Given the description of an element on the screen output the (x, y) to click on. 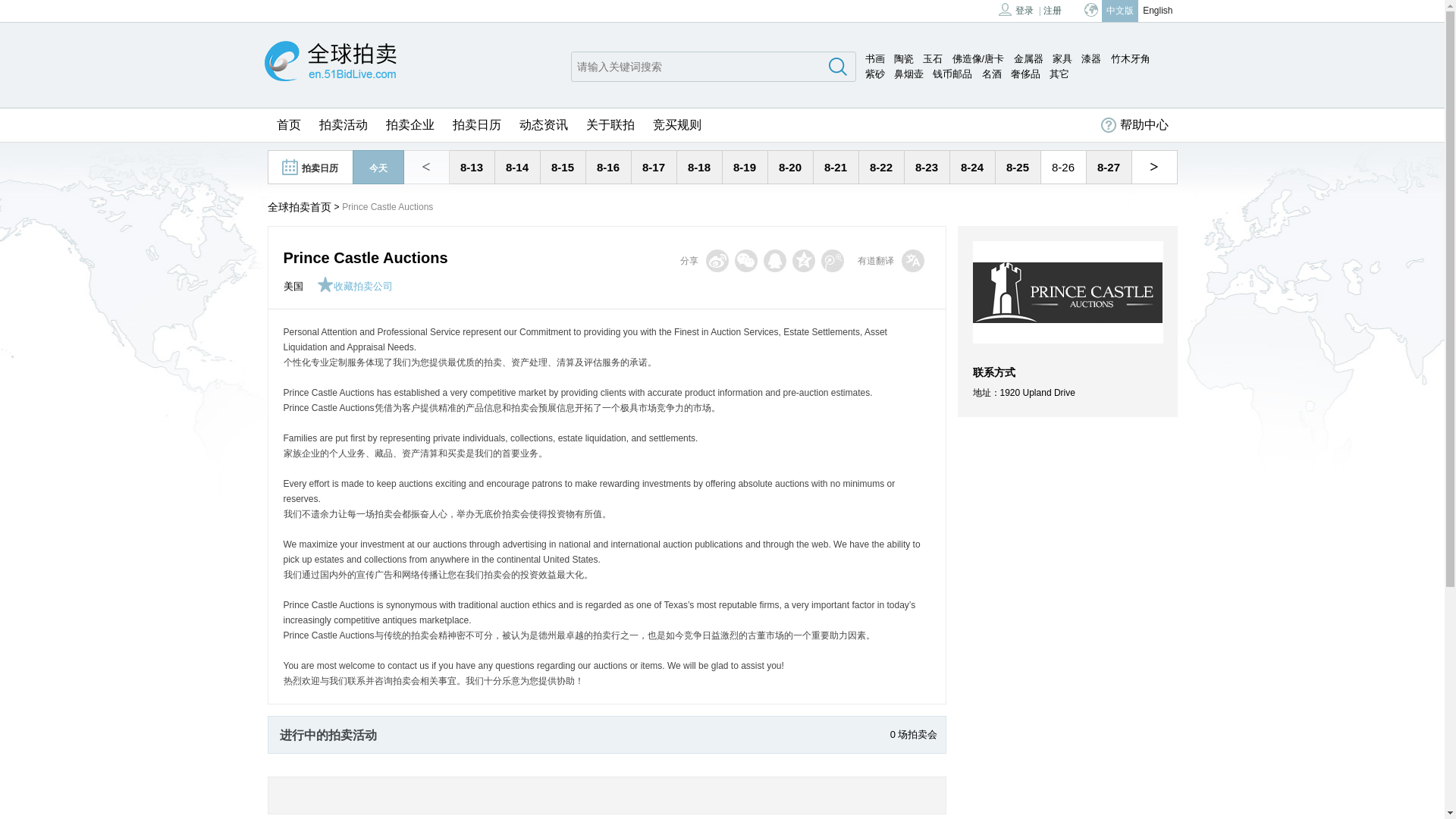
8-20 (790, 166)
8-22 (880, 166)
51BidLive (329, 61)
8-18 (698, 166)
8-15 (562, 166)
8-16 (608, 166)
8-21 (835, 166)
8-14 (516, 166)
8-19 (744, 166)
8-17 (653, 166)
